Given the description of an element on the screen output the (x, y) to click on. 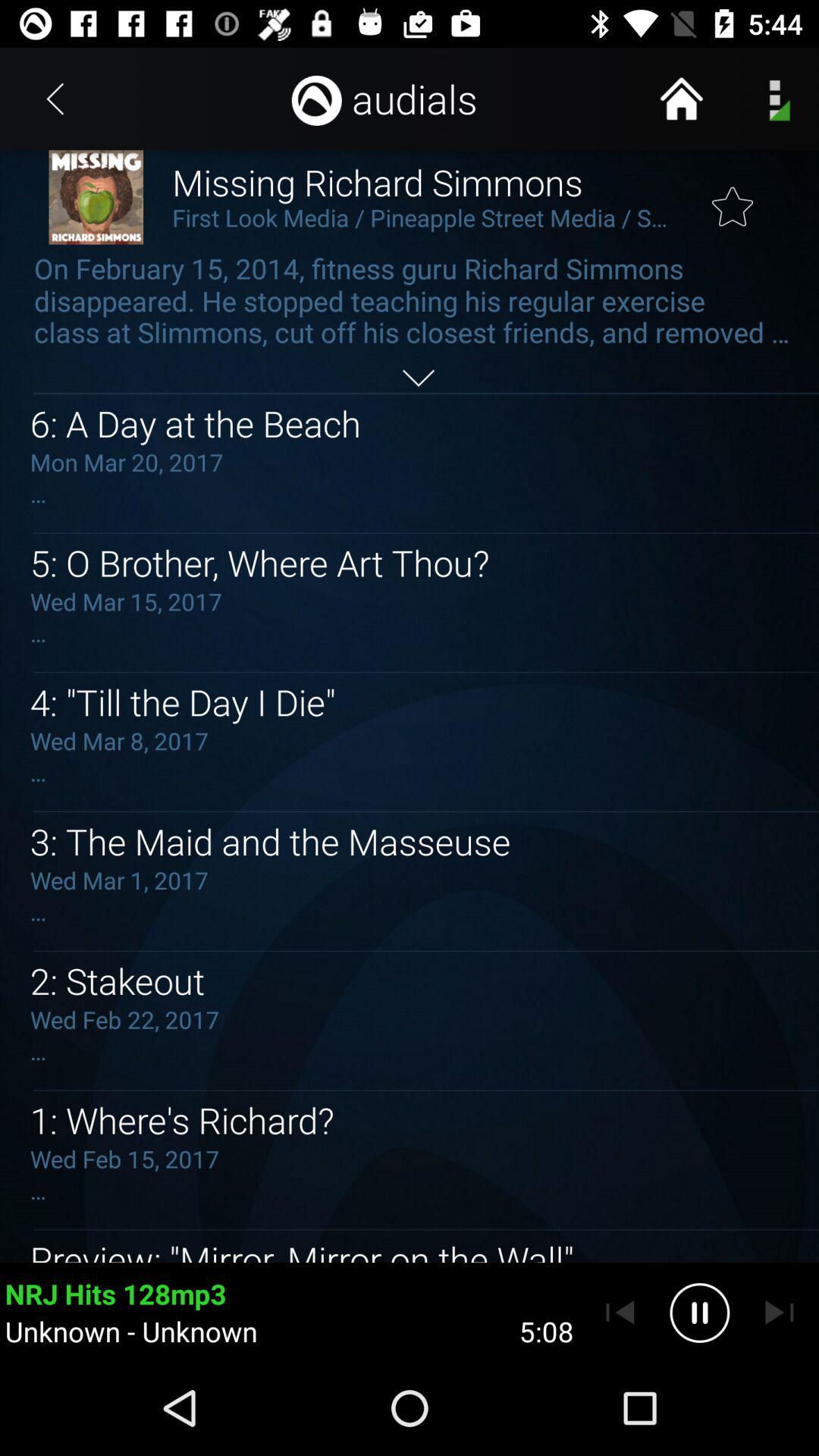
select the song  nrj hits (291, 1312)
go to the pause button (699, 1312)
go to the icon left to the audials (316, 98)
select the menu icon on the page (773, 98)
